Given the description of an element on the screen output the (x, y) to click on. 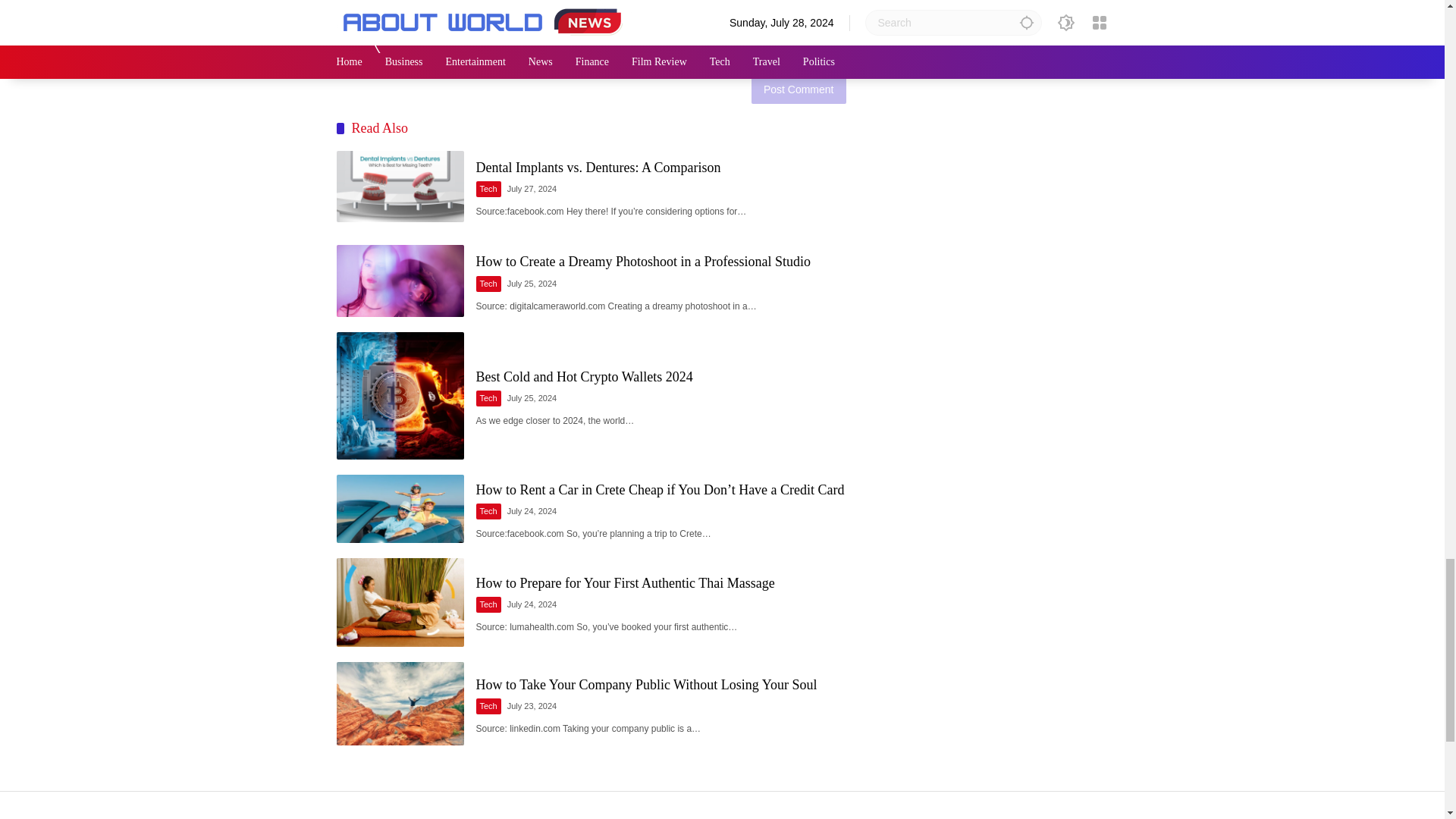
Post Comment (798, 90)
yes (342, 52)
